Given the description of an element on the screen output the (x, y) to click on. 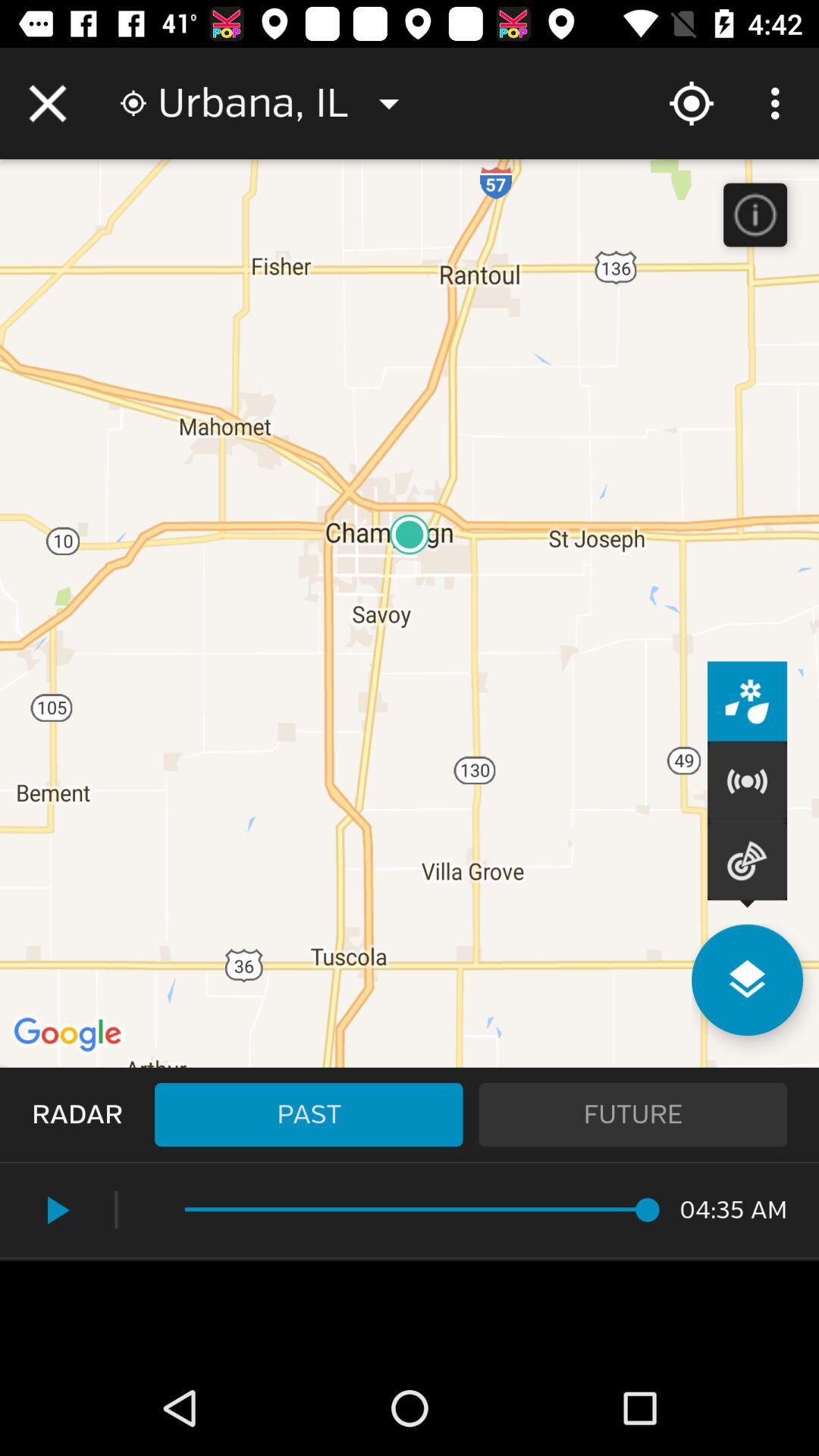
open the item below urbana, il item (308, 1114)
